Given the description of an element on the screen output the (x, y) to click on. 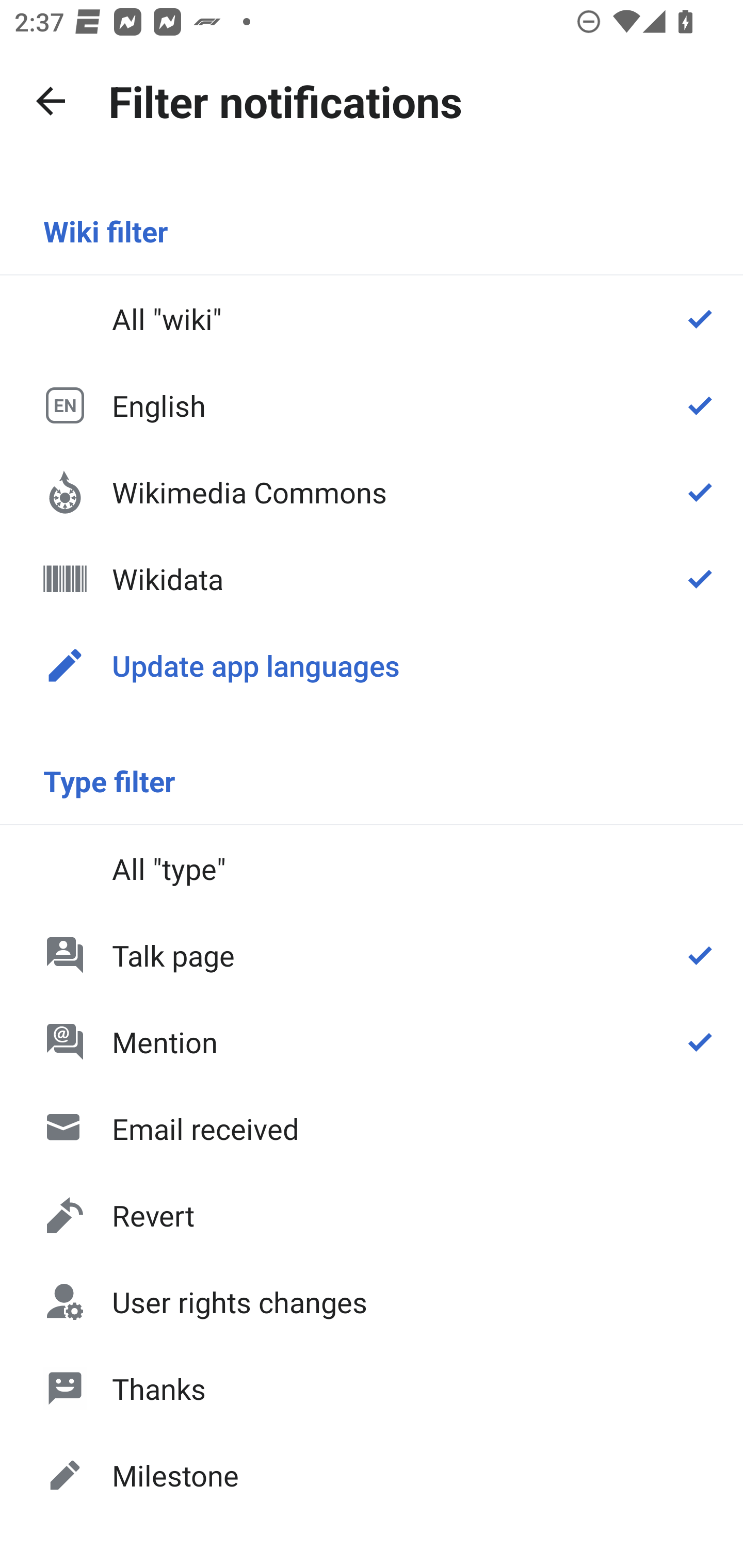
Navigate up (50, 101)
All "wiki" (371, 318)
EN English (371, 405)
Wikimedia Commons (371, 491)
Wikidata (371, 578)
Update app languages (371, 665)
All "type" (371, 868)
Talk page (371, 955)
Mention (371, 1041)
Email received (371, 1128)
Revert (371, 1215)
User rights changes (371, 1302)
Thanks (371, 1388)
Milestone (371, 1474)
